Given the description of an element on the screen output the (x, y) to click on. 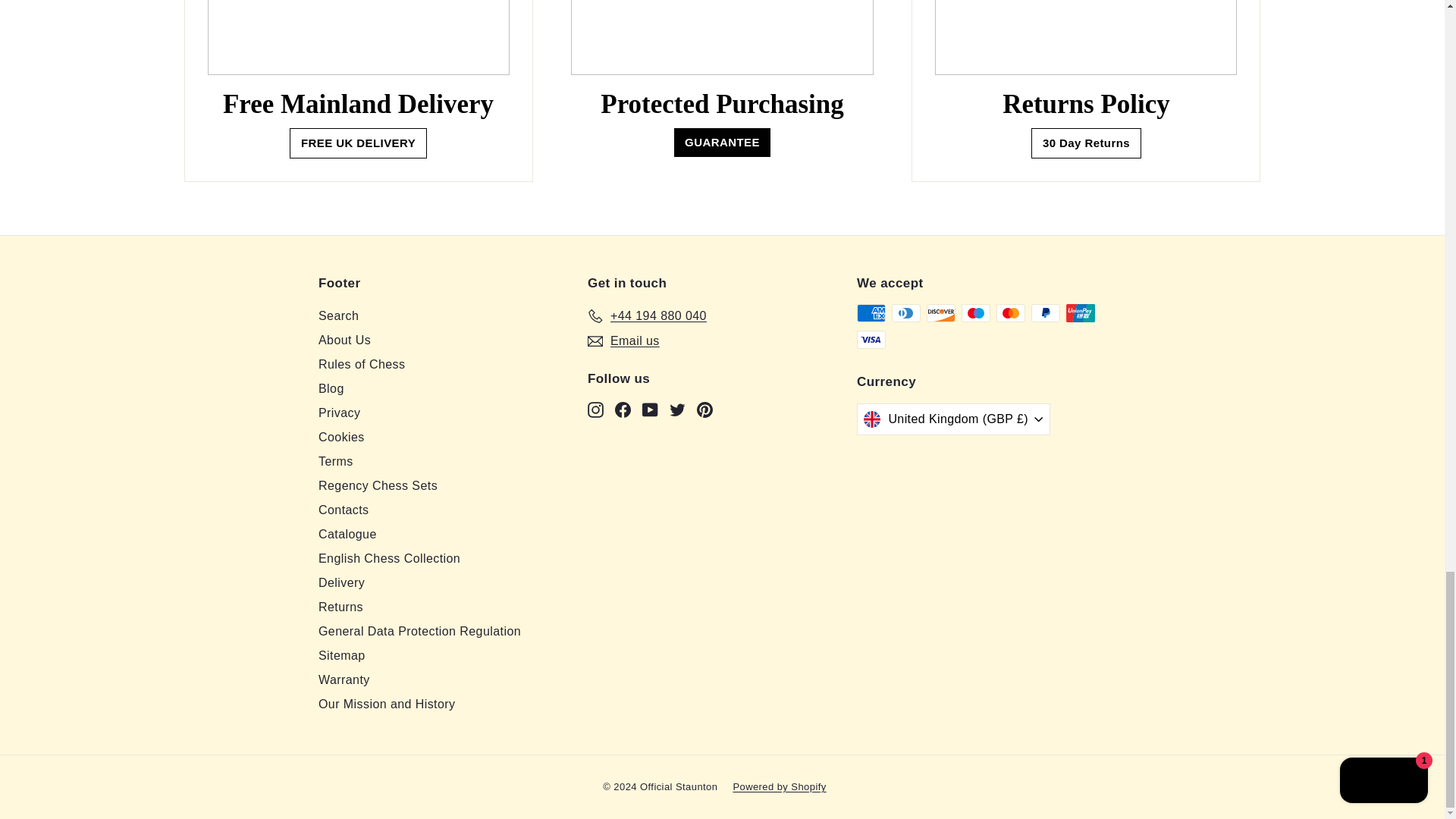
Official Staunton on Twitter (677, 409)
Official Staunton on Pinterest (705, 409)
Official Staunton on Facebook (622, 409)
Official Staunton on YouTube (650, 409)
Official Staunton on Instagram (596, 409)
